Given the description of an element on the screen output the (x, y) to click on. 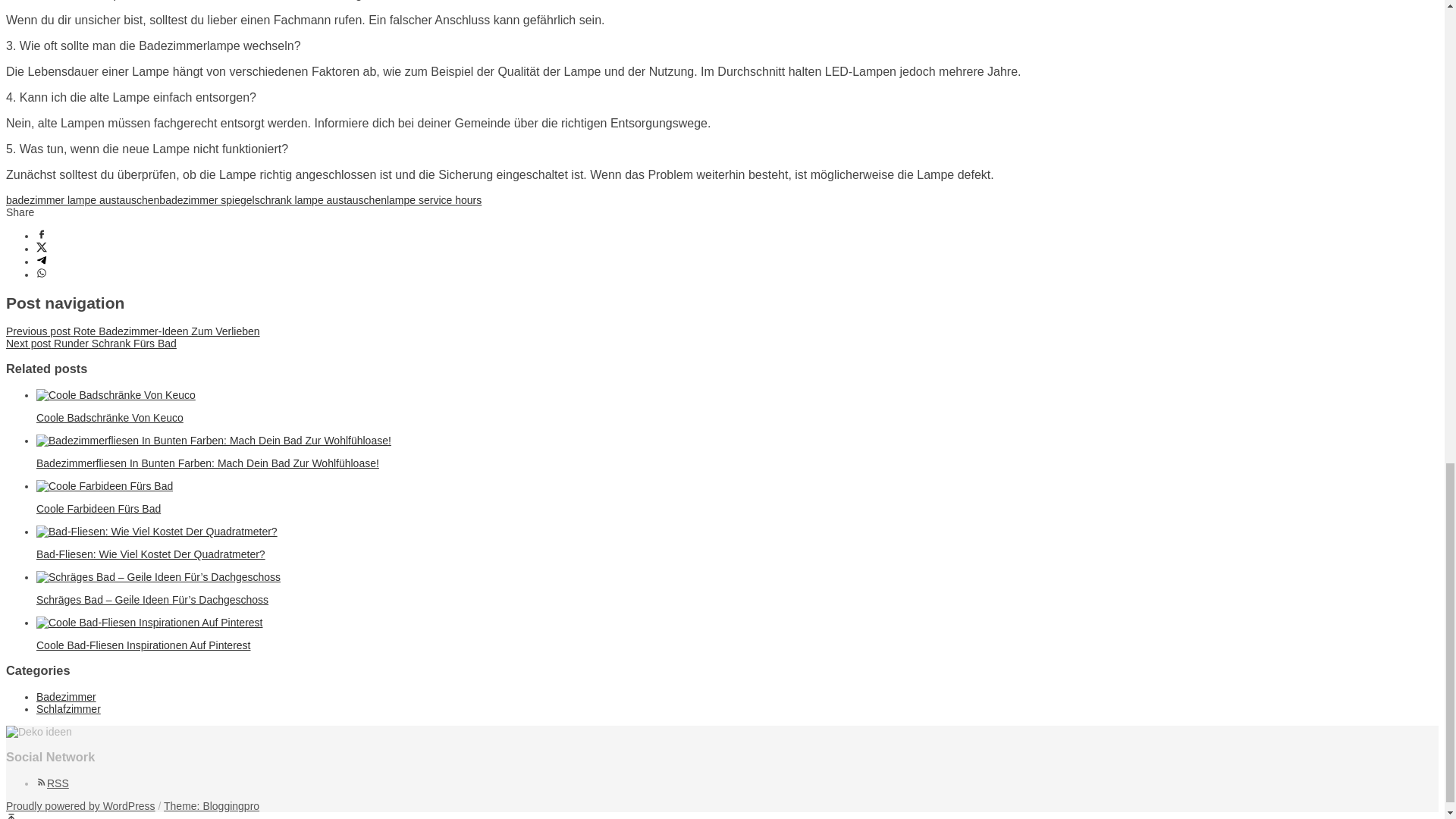
badezimmer lampe austauschen (81, 200)
Previous post Rote Badezimmer-Ideen Zum Verlieben (132, 331)
badezimmer spiegelschrank lampe austauschen (272, 200)
Share this (41, 235)
lampe service hours (434, 200)
